Given the description of an element on the screen output the (x, y) to click on. 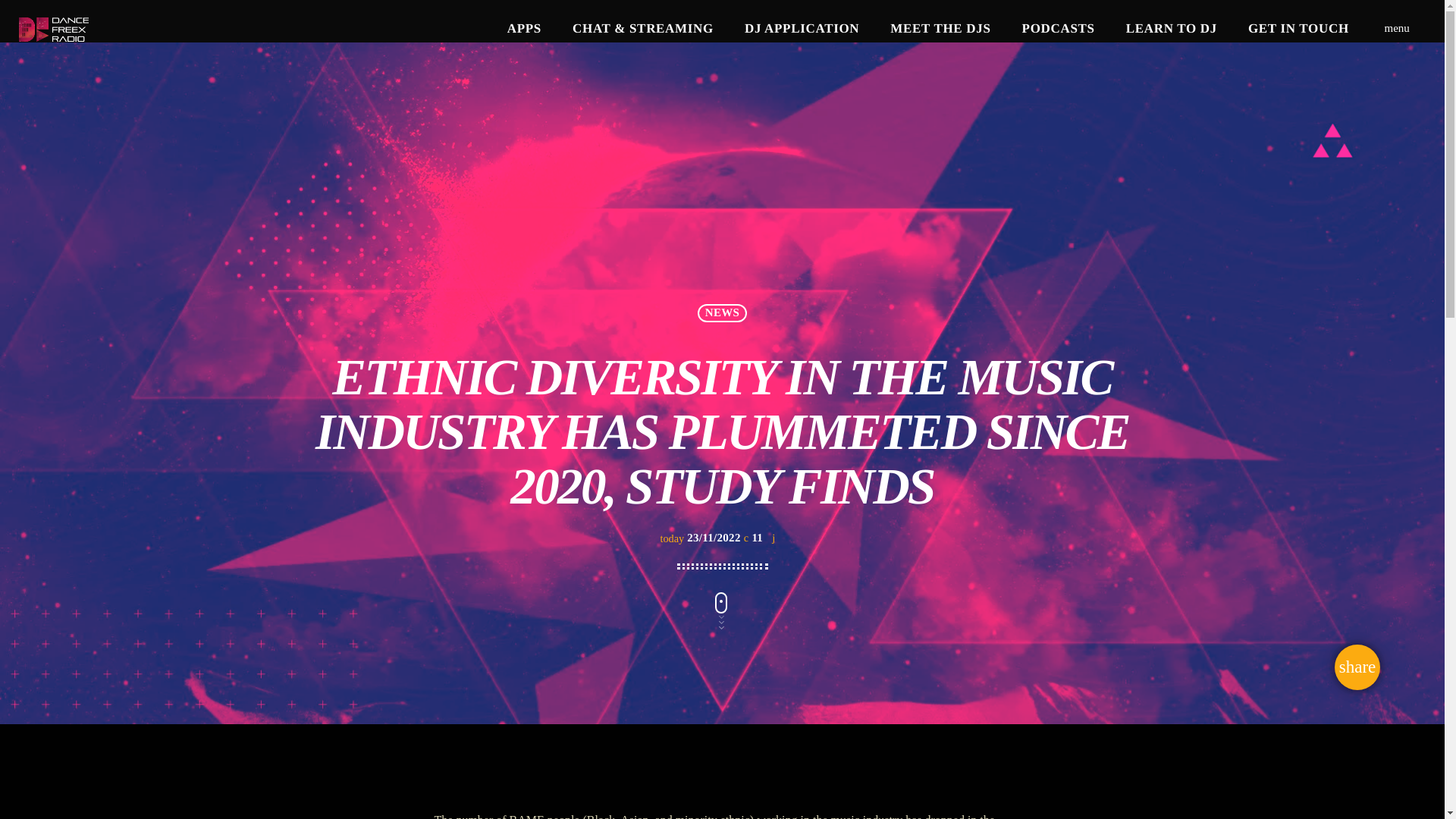
PODCASTS (1057, 29)
MEET THE DJS (940, 29)
menu (1396, 28)
DJ APPLICATION (802, 29)
LEARN TO DJ (1170, 29)
GET IN TOUCH (1297, 29)
email (1357, 666)
APPS (524, 29)
NEWS (721, 312)
